Given the description of an element on the screen output the (x, y) to click on. 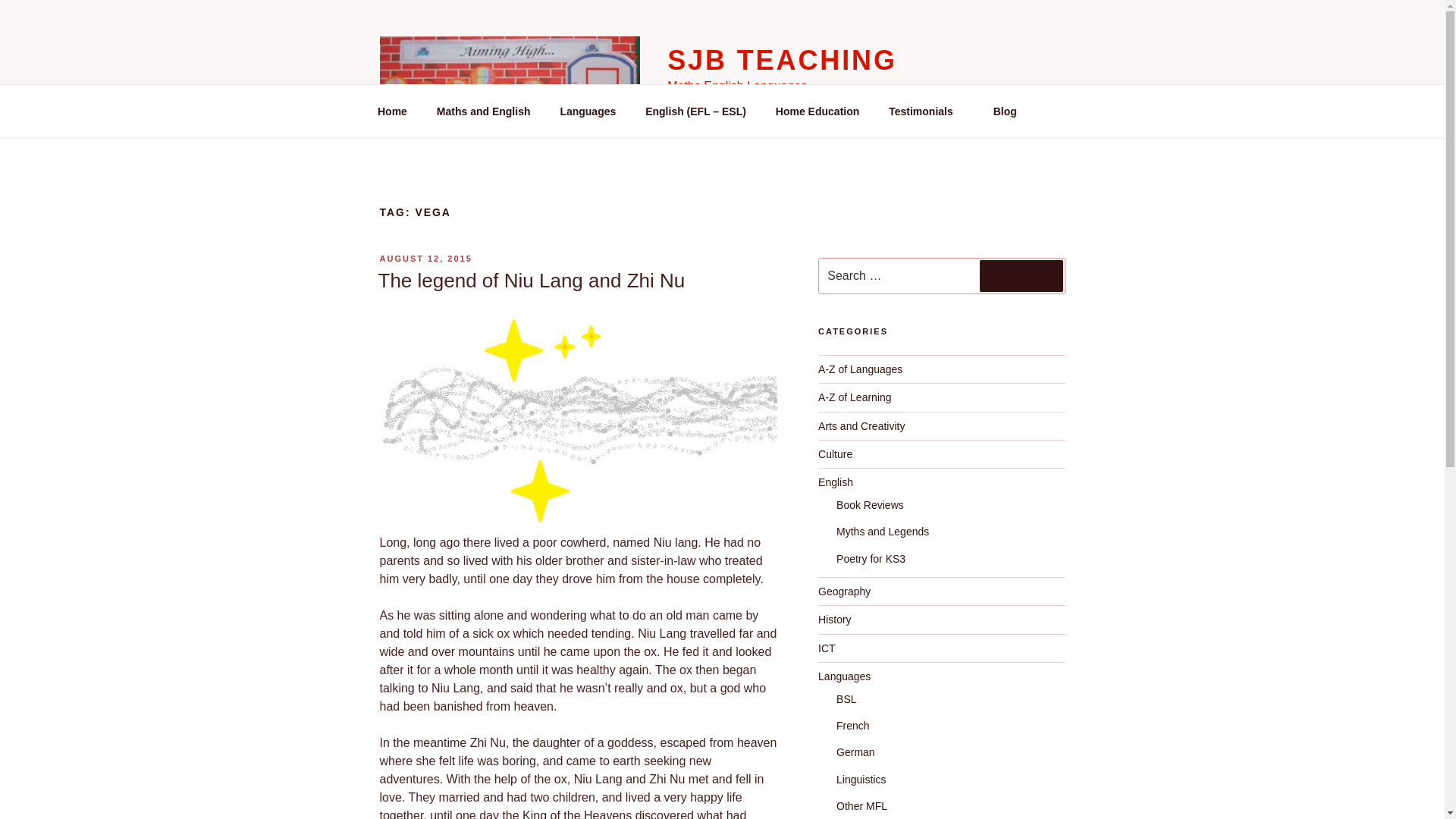
The legend of Niu Lang and Zhi Nu (530, 280)
ICT (826, 648)
Home Education (816, 110)
Myths and Legends (881, 531)
Languages (844, 676)
Testimonials (926, 110)
German (855, 752)
Linguistics (860, 779)
Home (392, 110)
BSL (845, 698)
A-Z of Languages (860, 369)
Arts and Creativity (861, 426)
French (852, 725)
English (835, 481)
Maths and English (483, 110)
